Given the description of an element on the screen output the (x, y) to click on. 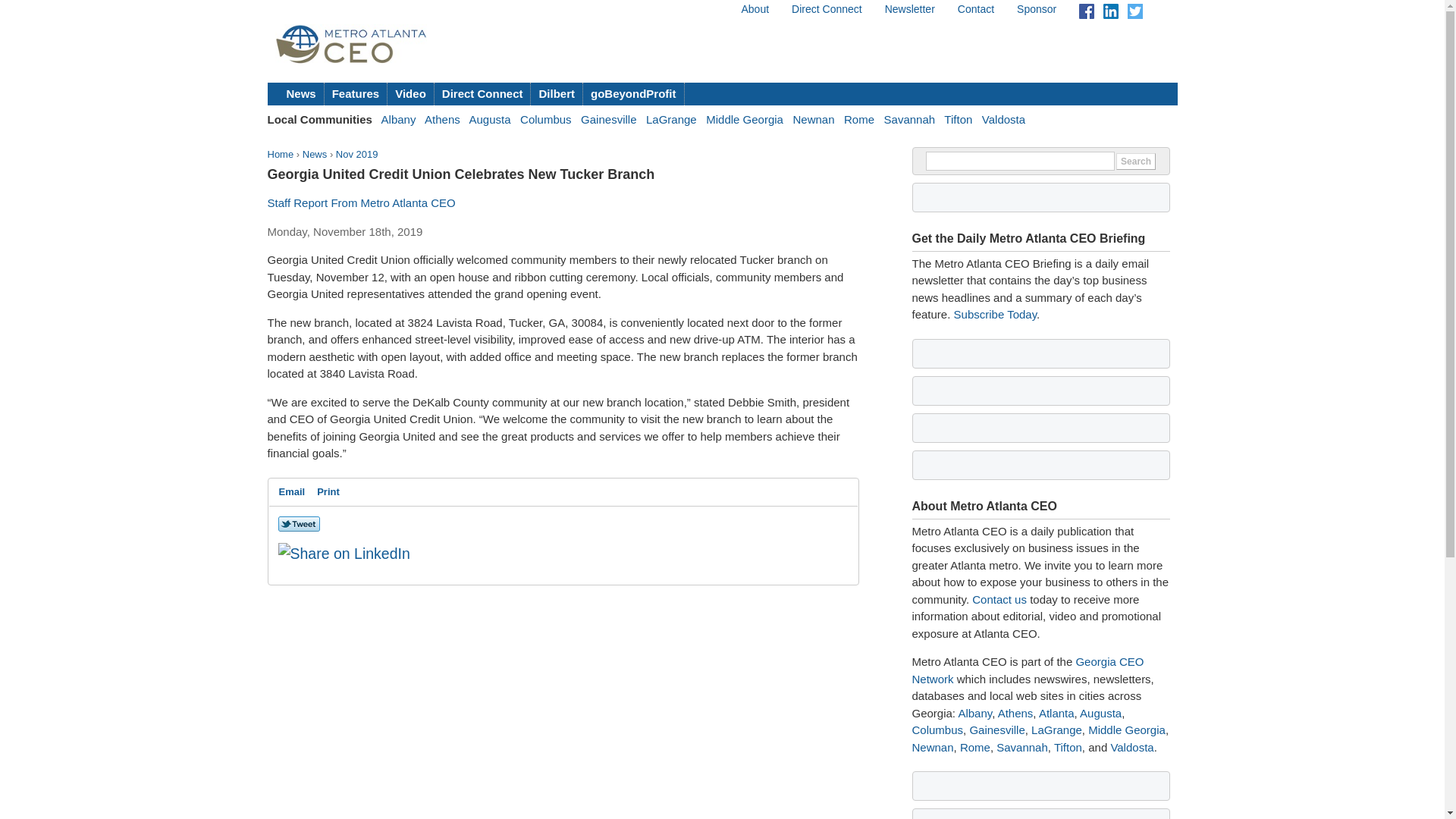
Direct Connect (482, 93)
Features (356, 93)
Albany (974, 712)
Sponsor (1036, 9)
Video (410, 93)
Contact us (999, 599)
Georgia CEO Network (1026, 670)
Email (292, 492)
goBeyondProfit (633, 93)
News (314, 153)
